Given the description of an element on the screen output the (x, y) to click on. 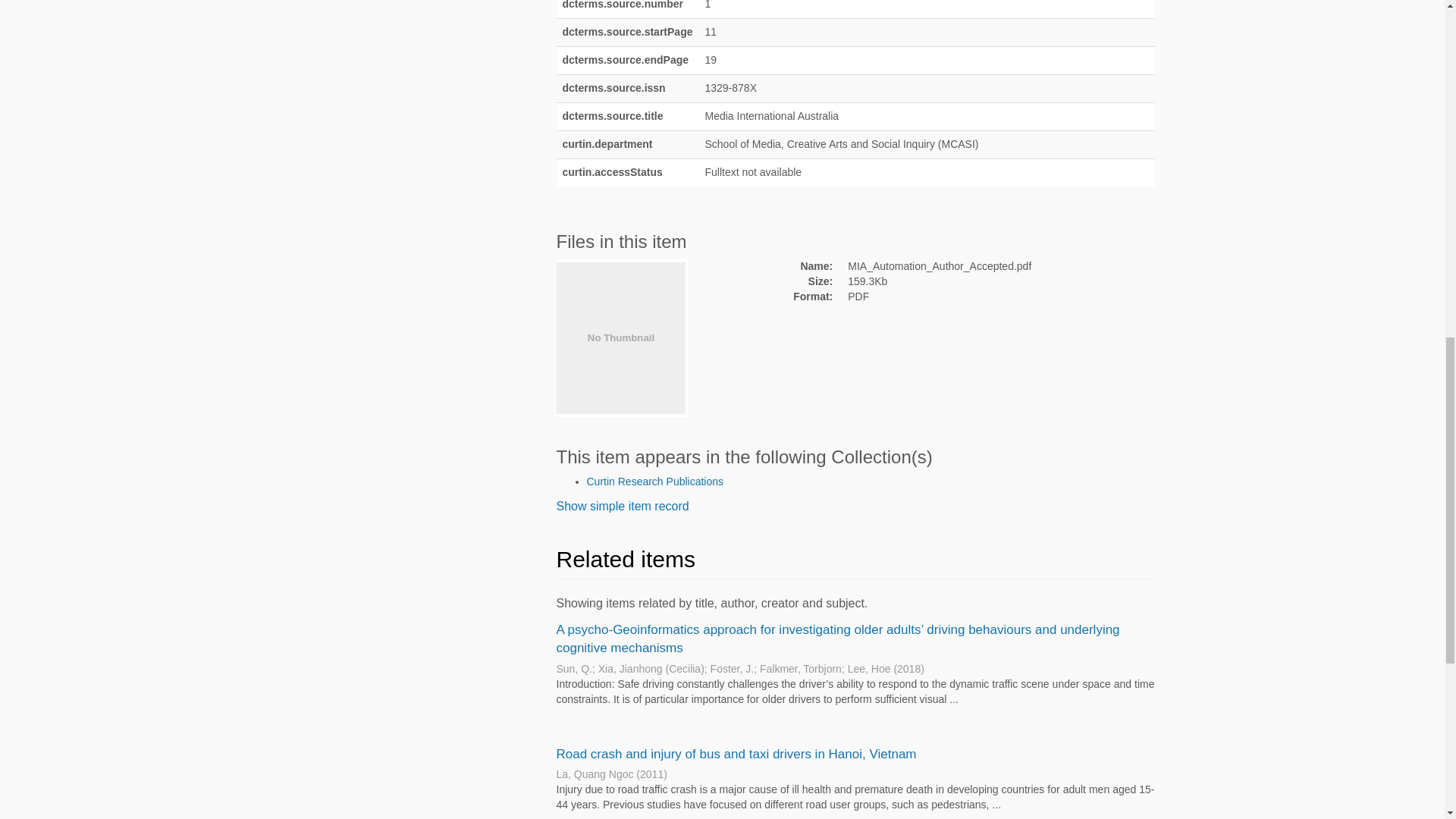
Show simple item record (622, 505)
Curtin Research Publications (654, 481)
